Given the description of an element on the screen output the (x, y) to click on. 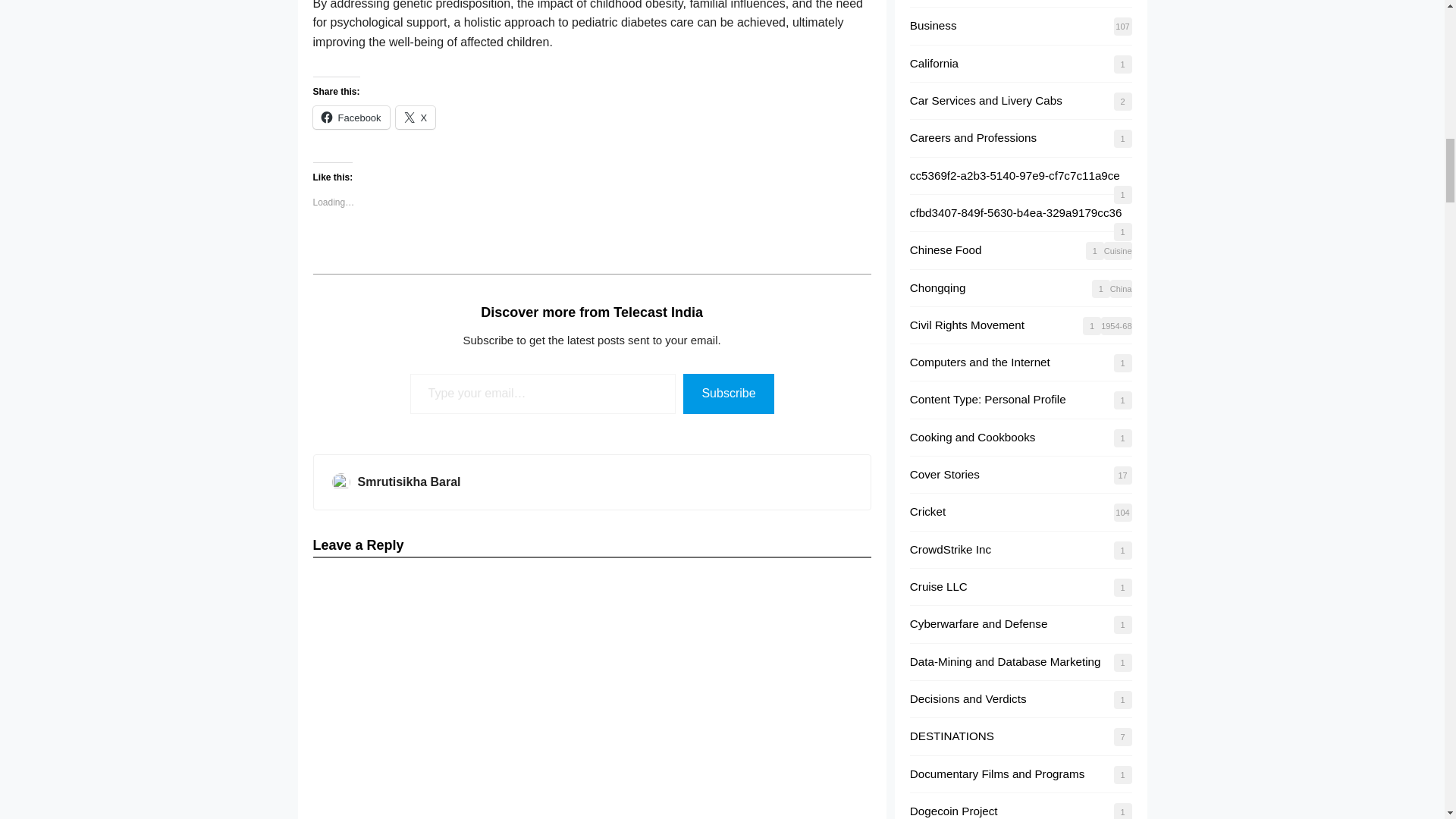
Subscribe (727, 393)
Facebook (350, 117)
Click to share on Facebook (350, 117)
Please fill in this field. (543, 393)
Click to share on X (415, 117)
X (415, 117)
